Given the description of an element on the screen output the (x, y) to click on. 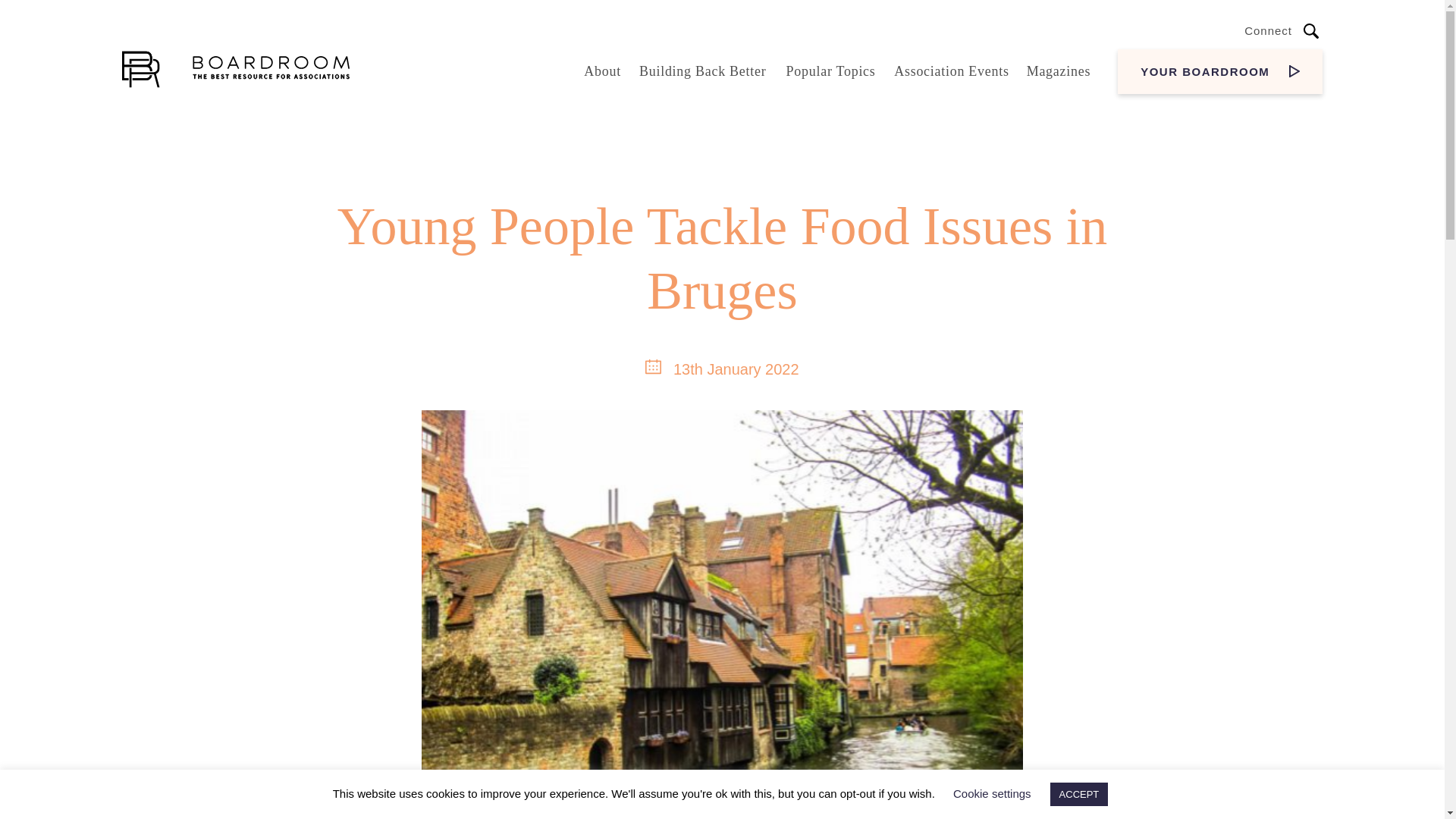
Association Events (951, 71)
Popular Topics (830, 71)
Magazines (1058, 71)
Popular Topics (830, 71)
Building Back Better (702, 71)
YOUR BOARDROOM (1220, 71)
About (602, 71)
Association Events (951, 71)
Building Back Better (702, 71)
Connect (1268, 30)
About (602, 71)
